Given the description of an element on the screen output the (x, y) to click on. 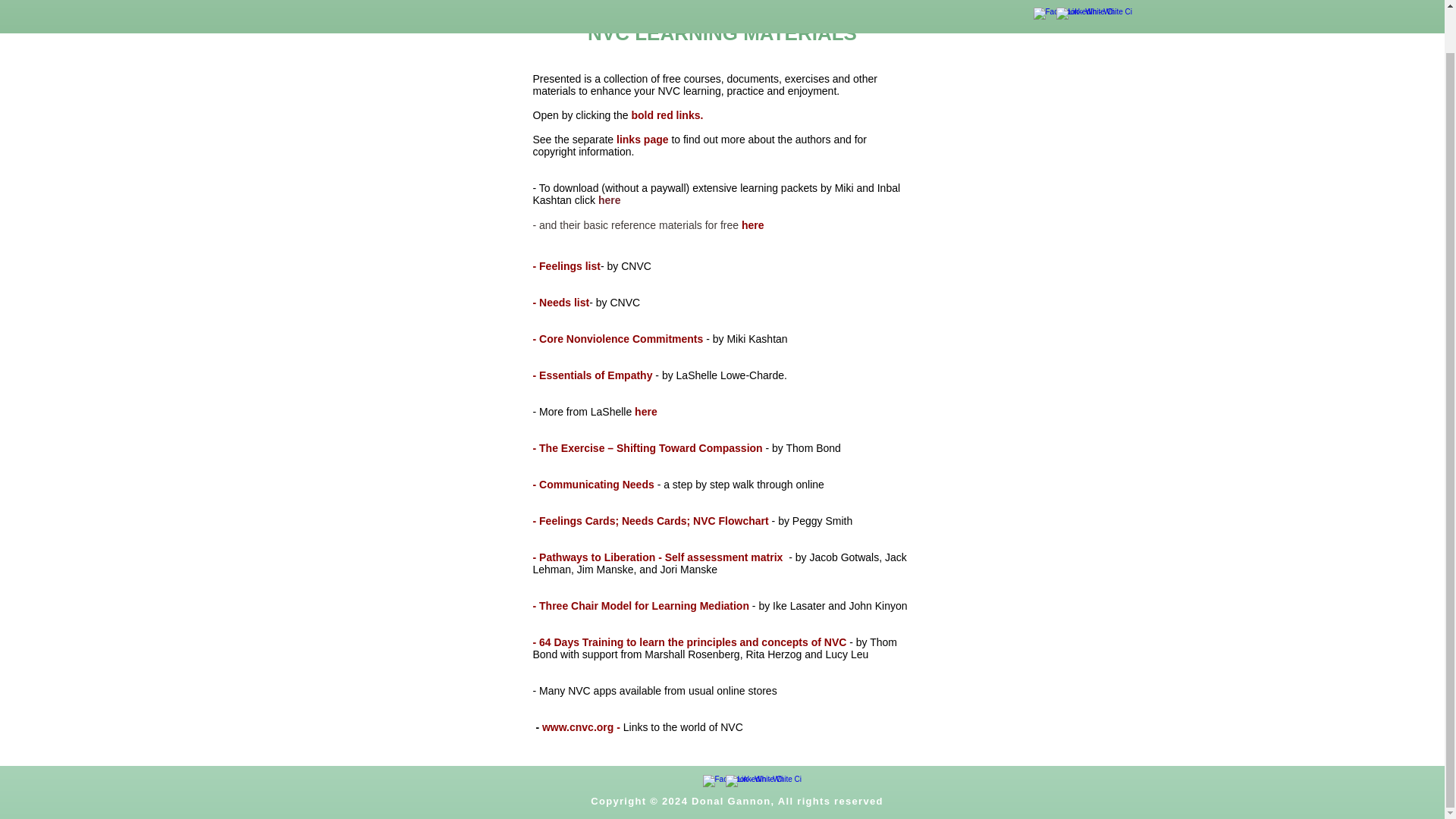
links page (641, 139)
here (646, 411)
- Essentials of Empathy  (593, 375)
- Needs list (560, 302)
- Three Chair Model for Learning Mediation  (641, 605)
here (752, 224)
- Communicating Needs (592, 484)
- Pathways to Liberation - Self assessment matrix (657, 557)
- Feelings Cards; Needs Cards; NVC Flowchart (650, 521)
